Given the description of an element on the screen output the (x, y) to click on. 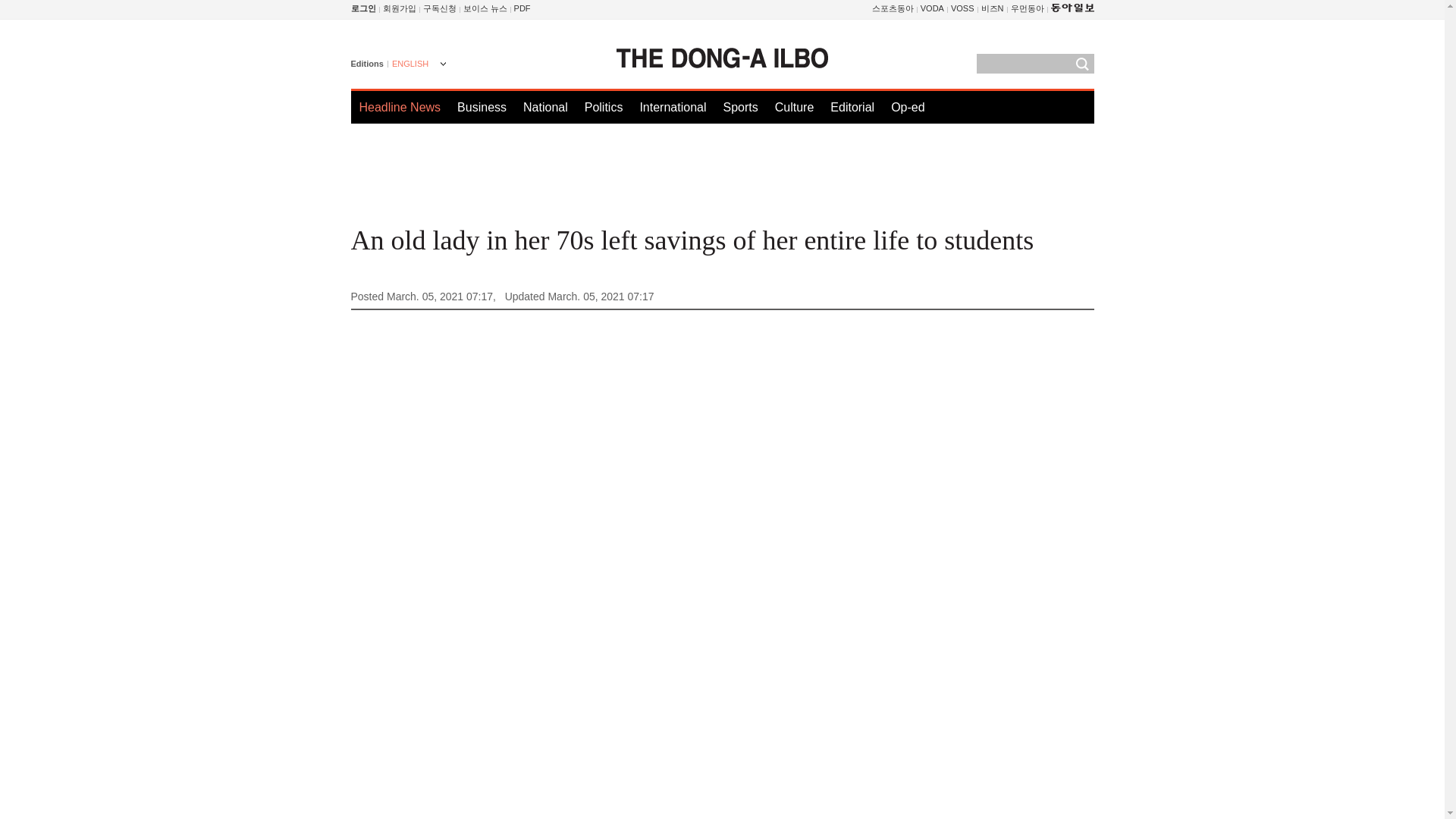
VOSS (962, 8)
VODA (931, 8)
VODA (931, 8)
READERS (440, 8)
SPORTS (893, 8)
BIZN (992, 8)
PDF (522, 8)
Headline News (400, 106)
Culture (793, 106)
Sports (739, 106)
Op-ed (907, 106)
International (672, 106)
VOSS (962, 8)
Business (481, 106)
Politics (604, 106)
